Given the description of an element on the screen output the (x, y) to click on. 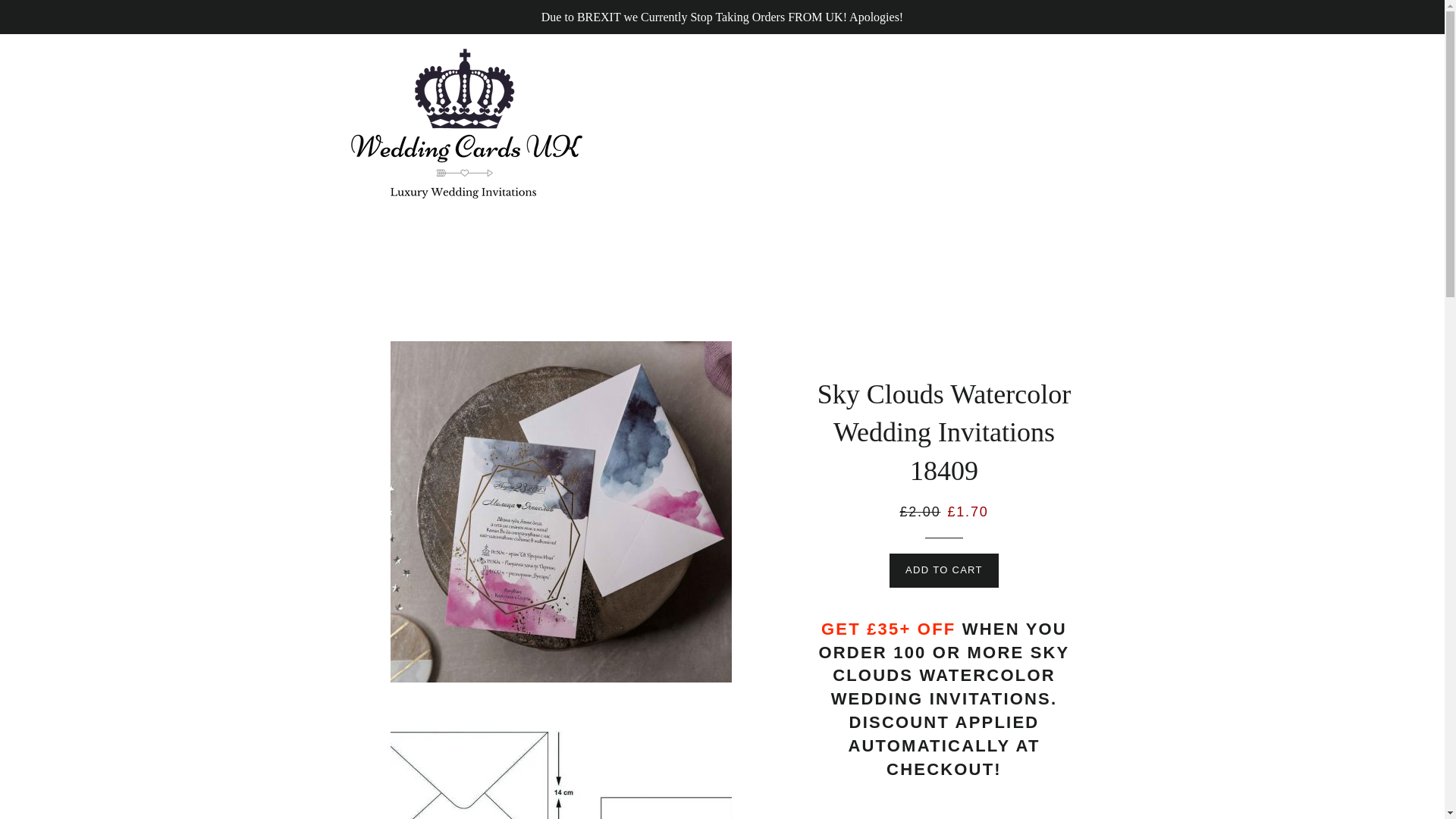
ADD TO CART (943, 570)
